Given the description of an element on the screen output the (x, y) to click on. 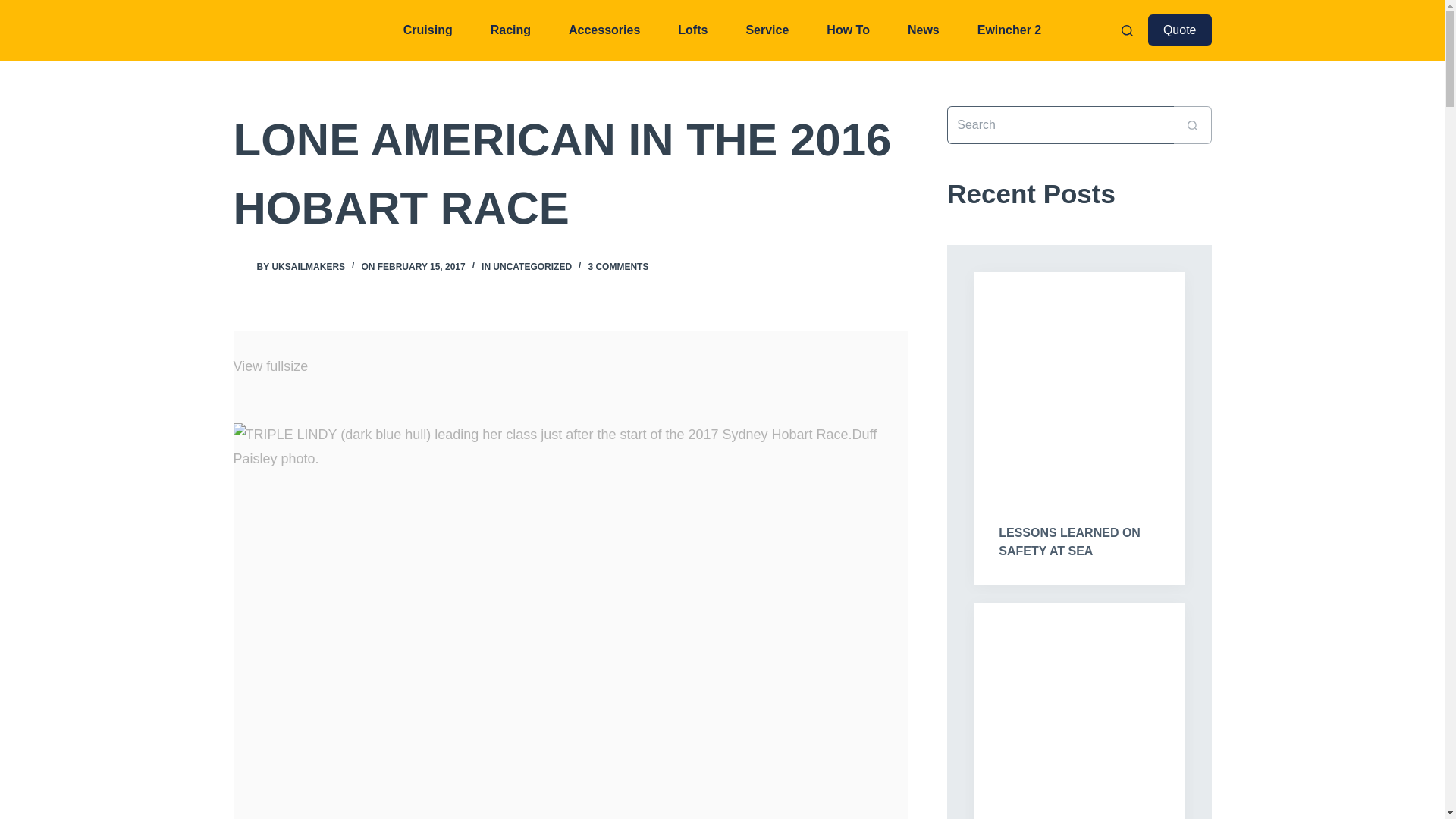
UKSAILMAKERS (307, 266)
3 COMMENTS (617, 266)
Ewincher 2 (1008, 30)
Service (767, 30)
ONE DESIGN WIN AT OK DINGHY OPEN 6 (1078, 710)
Skip to content (15, 7)
LESSONS LEARNED ON SAFETY AT SEA 5 (1078, 384)
Quote (1179, 29)
News (923, 30)
Racing (510, 30)
